Given the description of an element on the screen output the (x, y) to click on. 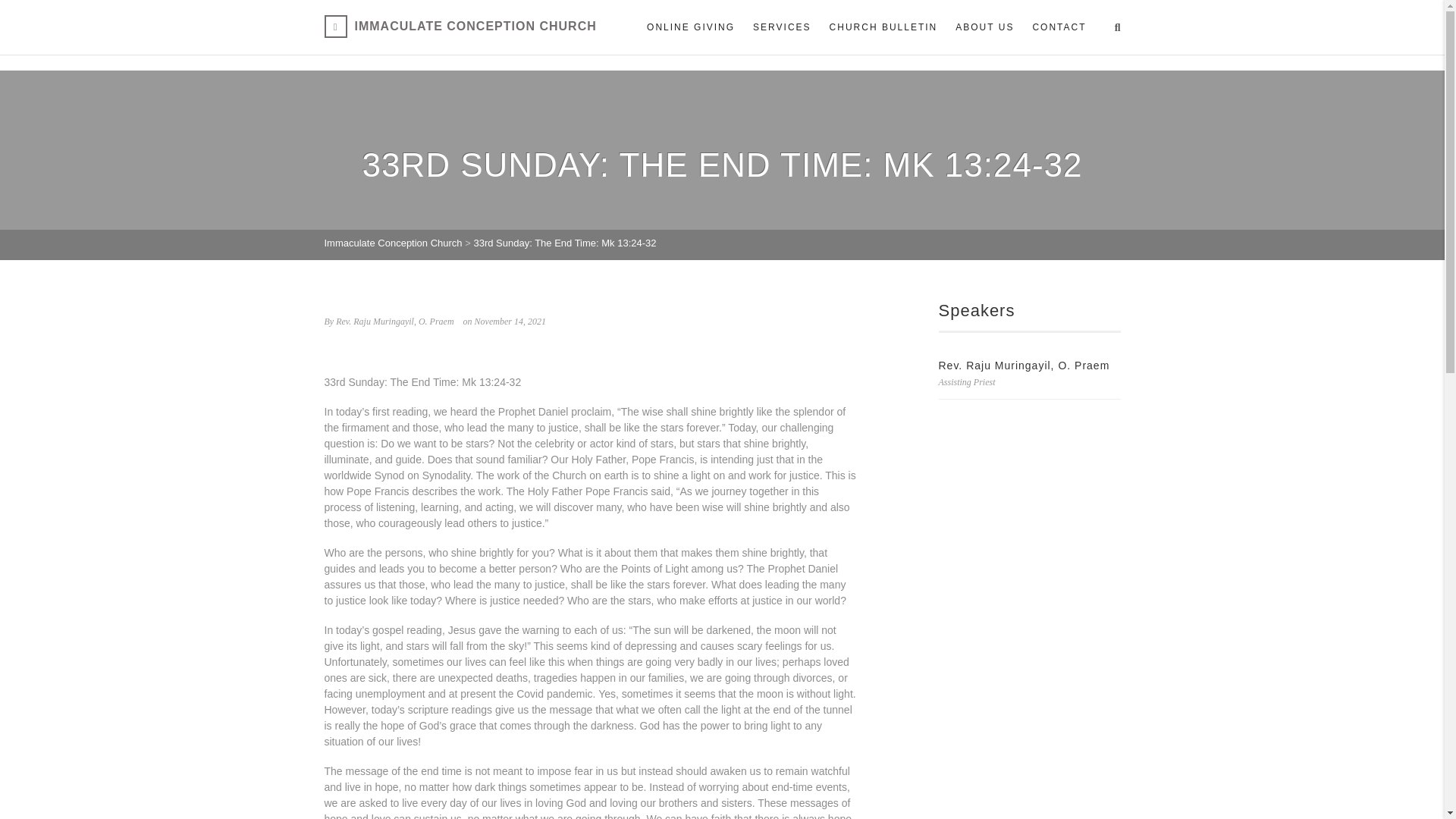
SERVICES (781, 27)
Our latest Bulletin in pdf form (884, 27)
CONTACT (1054, 27)
ONLINE GIVING (690, 27)
Immaculate Conception Church (393, 242)
Please create an account and give monthly. (690, 27)
Rev. Raju Muringayil, O. Praem (1024, 365)
CHURCH BULLETIN (884, 27)
IMMACULATE CONCEPTION CHURCH (460, 26)
ABOUT US (984, 27)
Immaculate Conception Church (460, 26)
Go to Immaculate Conception Church. (393, 242)
